Given the description of an element on the screen output the (x, y) to click on. 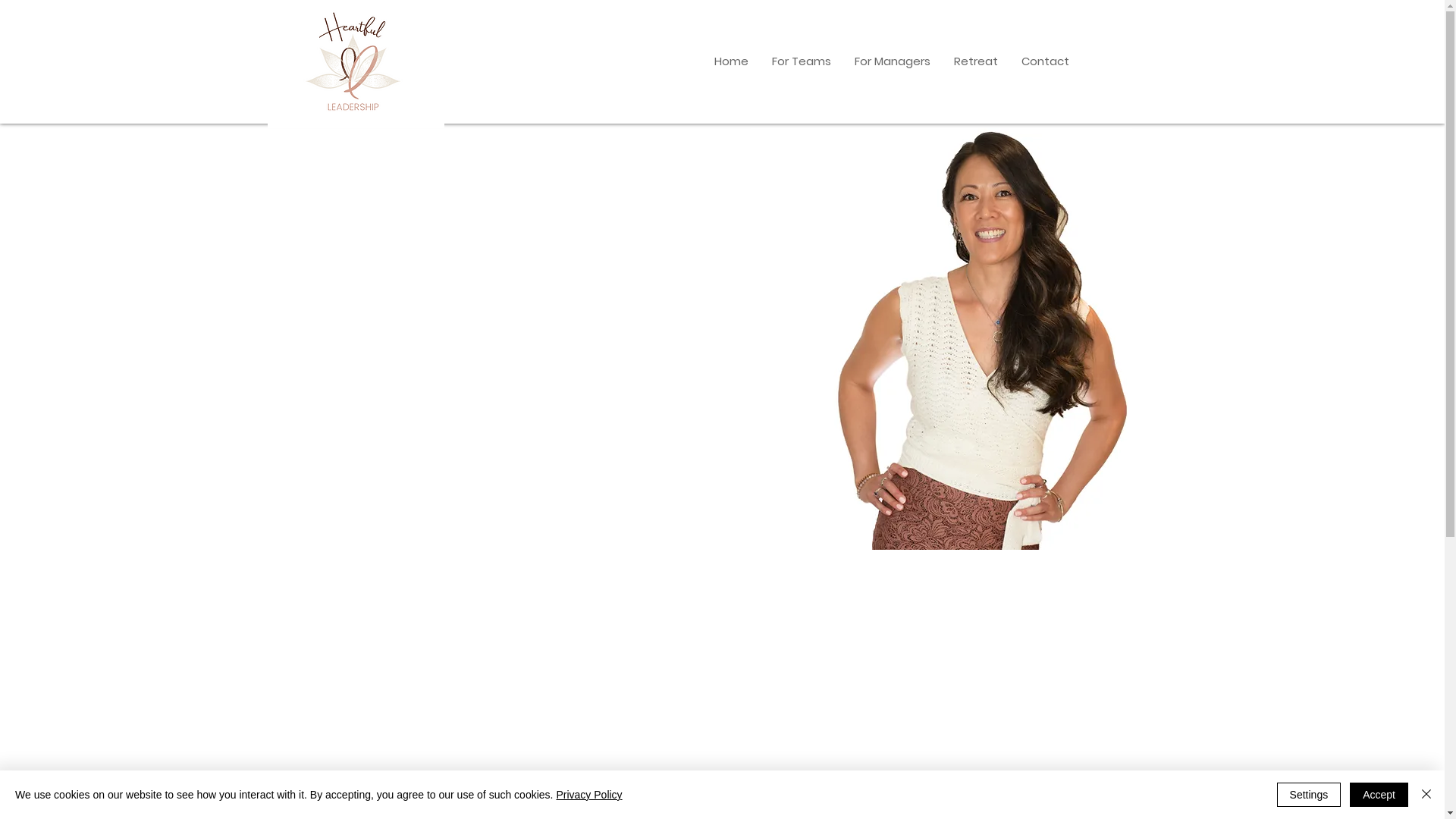
Home Element type: text (730, 61)
For Teams Element type: text (800, 61)
For Managers Element type: text (891, 61)
Accept Element type: text (1378, 794)
Settings Element type: text (1309, 794)
Privacy Policy Element type: text (588, 794)
Contact Element type: text (1043, 61)
Retreat Element type: text (975, 61)
